Given the description of an element on the screen output the (x, y) to click on. 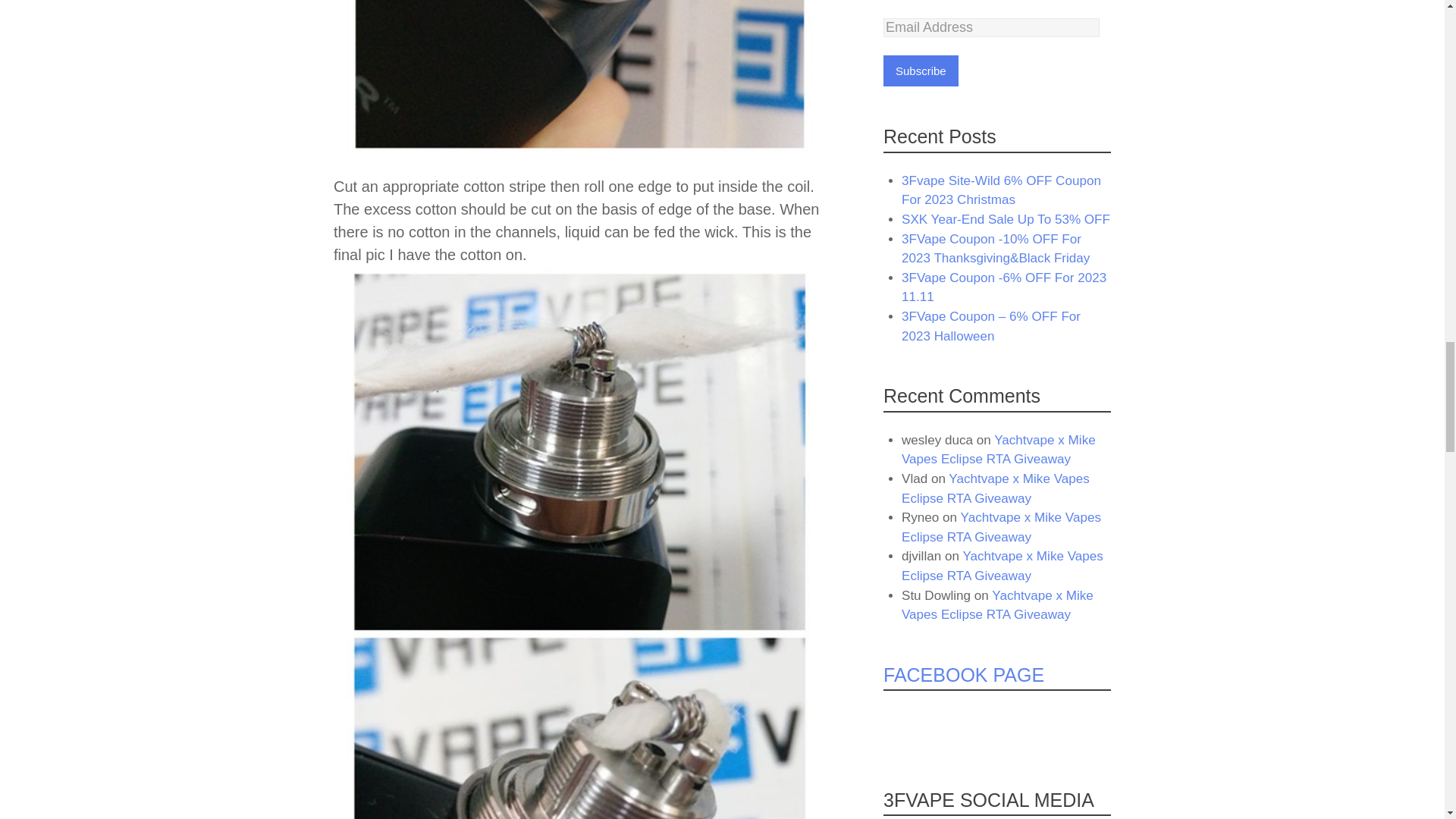
Subscribe (920, 70)
